Given the description of an element on the screen output the (x, y) to click on. 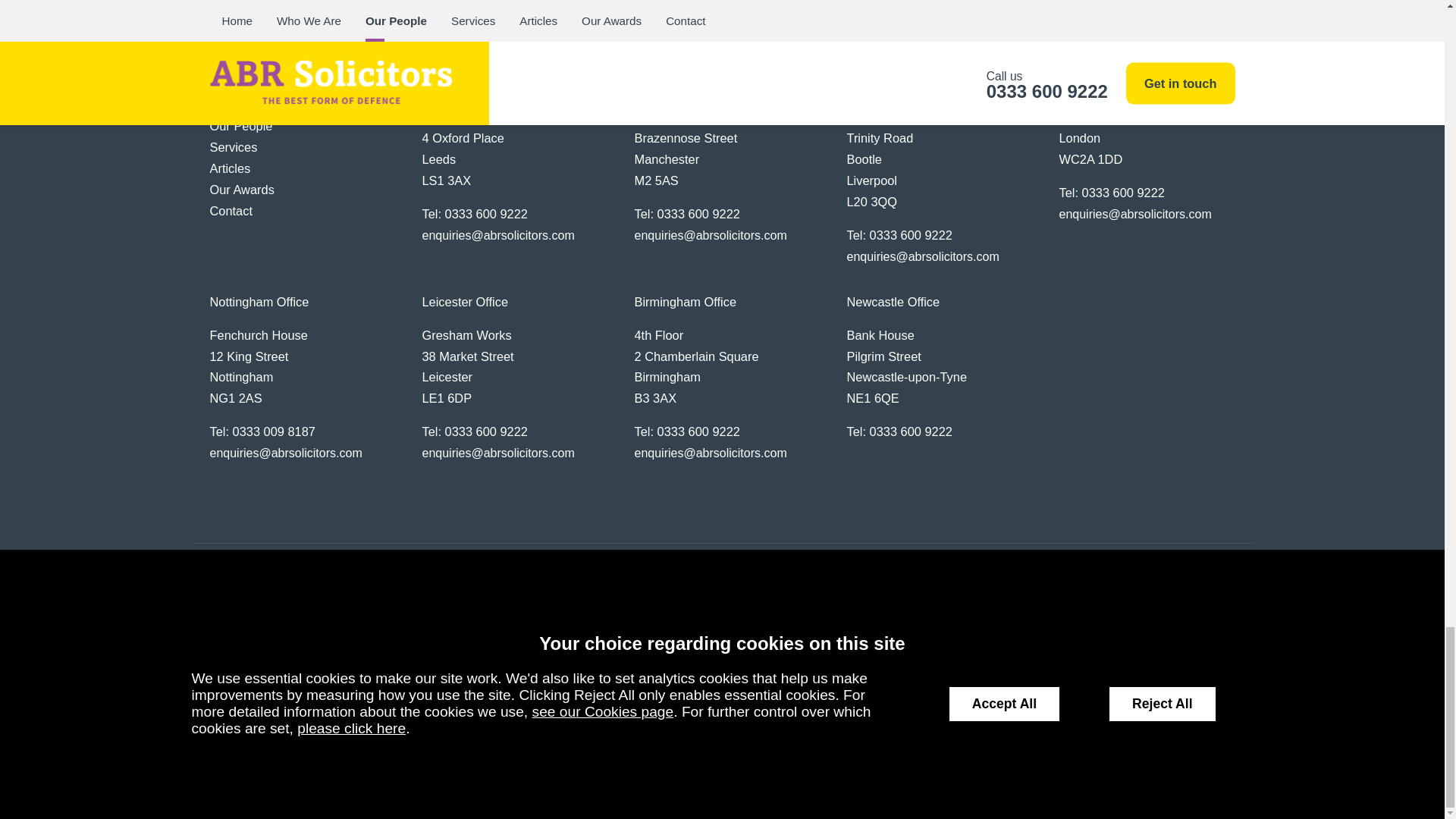
Search the site (1058, 598)
